Given the description of an element on the screen output the (x, y) to click on. 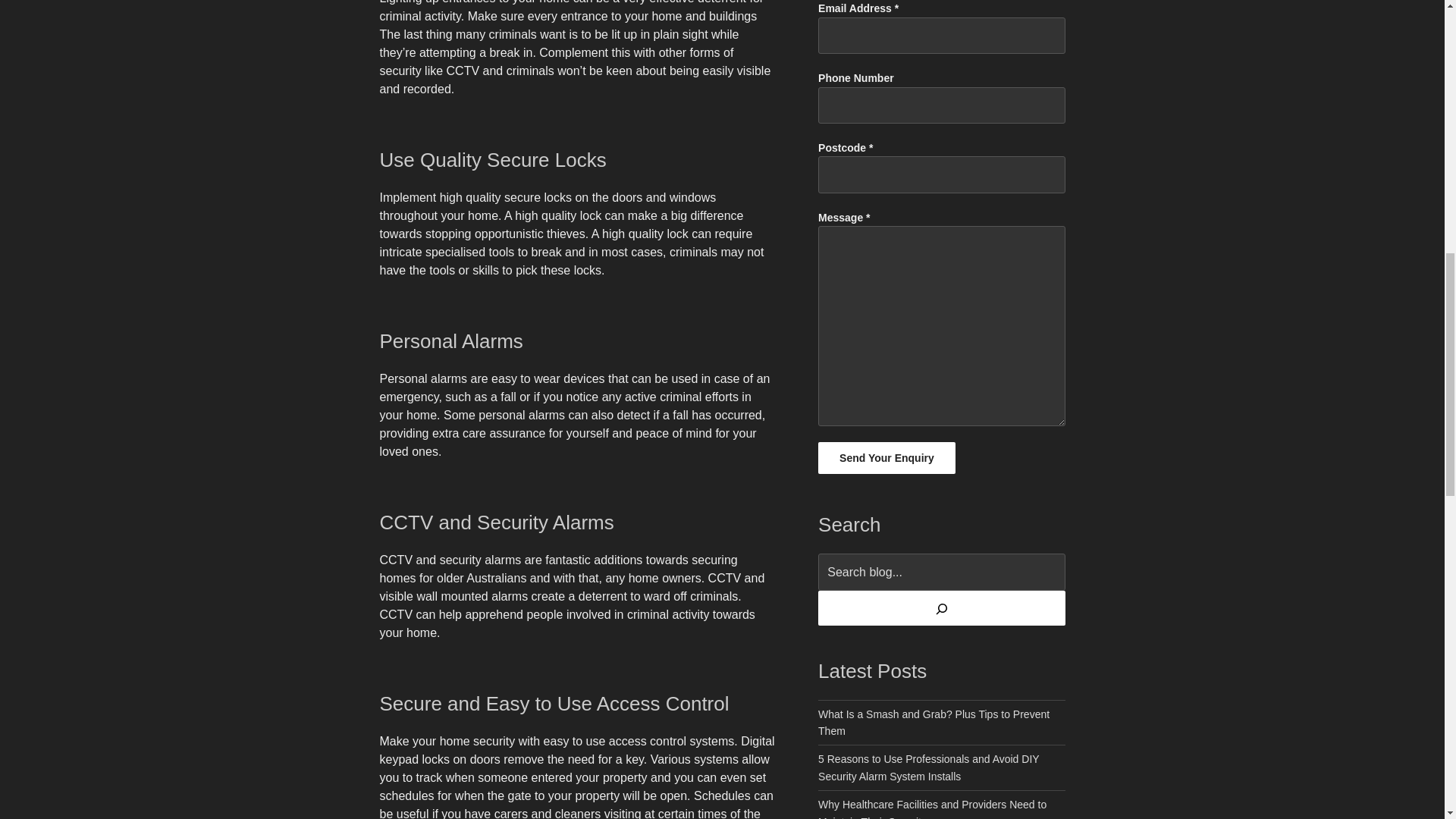
Send Your Enquiry (886, 458)
What Is a Smash and Grab? Plus Tips to Prevent Them (933, 722)
Send Your Enquiry (886, 458)
